Given the description of an element on the screen output the (x, y) to click on. 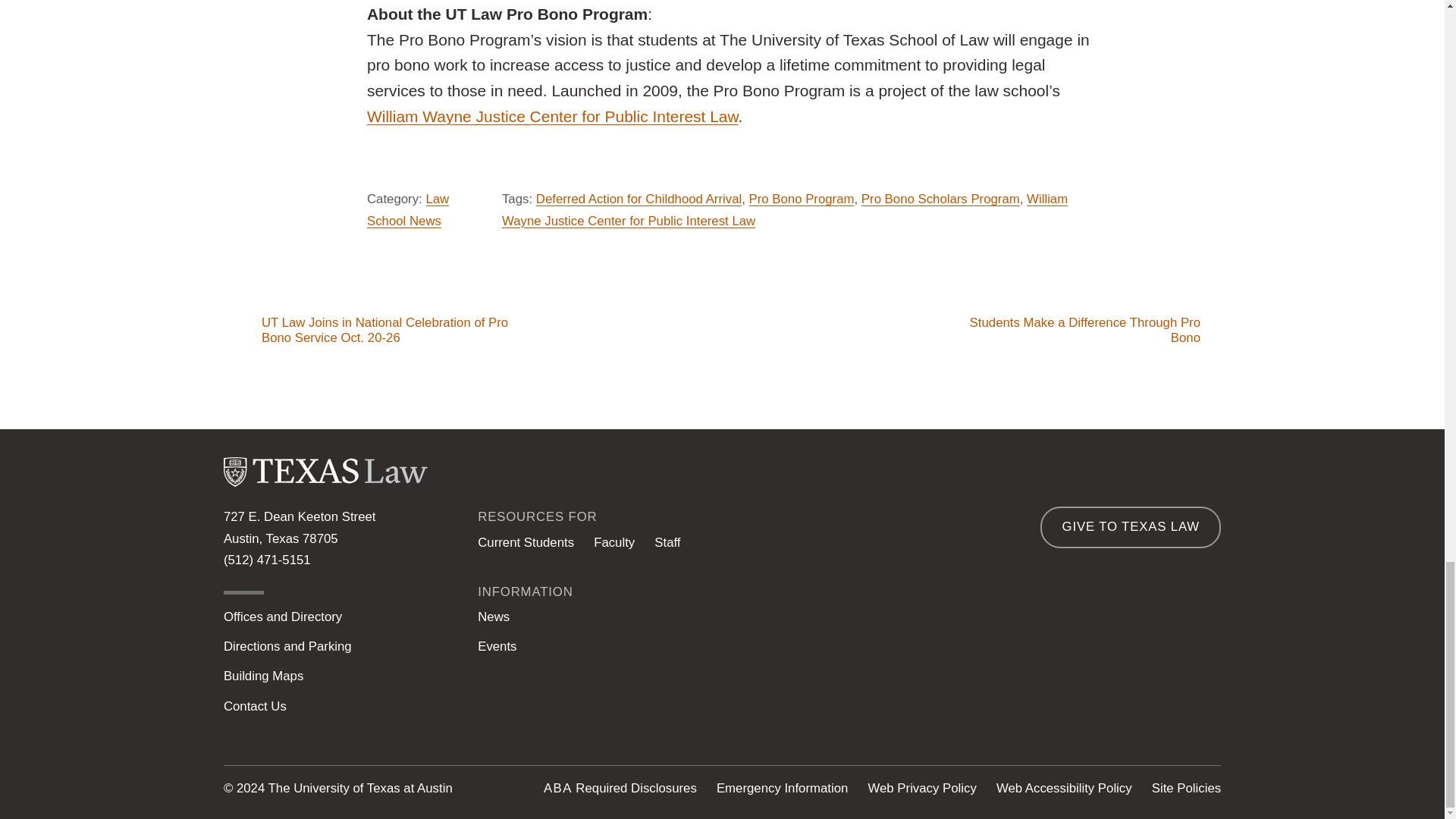
LinkedIn (973, 696)
Twitter (1031, 696)
YouTube (1147, 696)
American Bar Association (557, 788)
Facebook (1091, 696)
Instagram (915, 696)
Flickr (1206, 696)
